Given the description of an element on the screen output the (x, y) to click on. 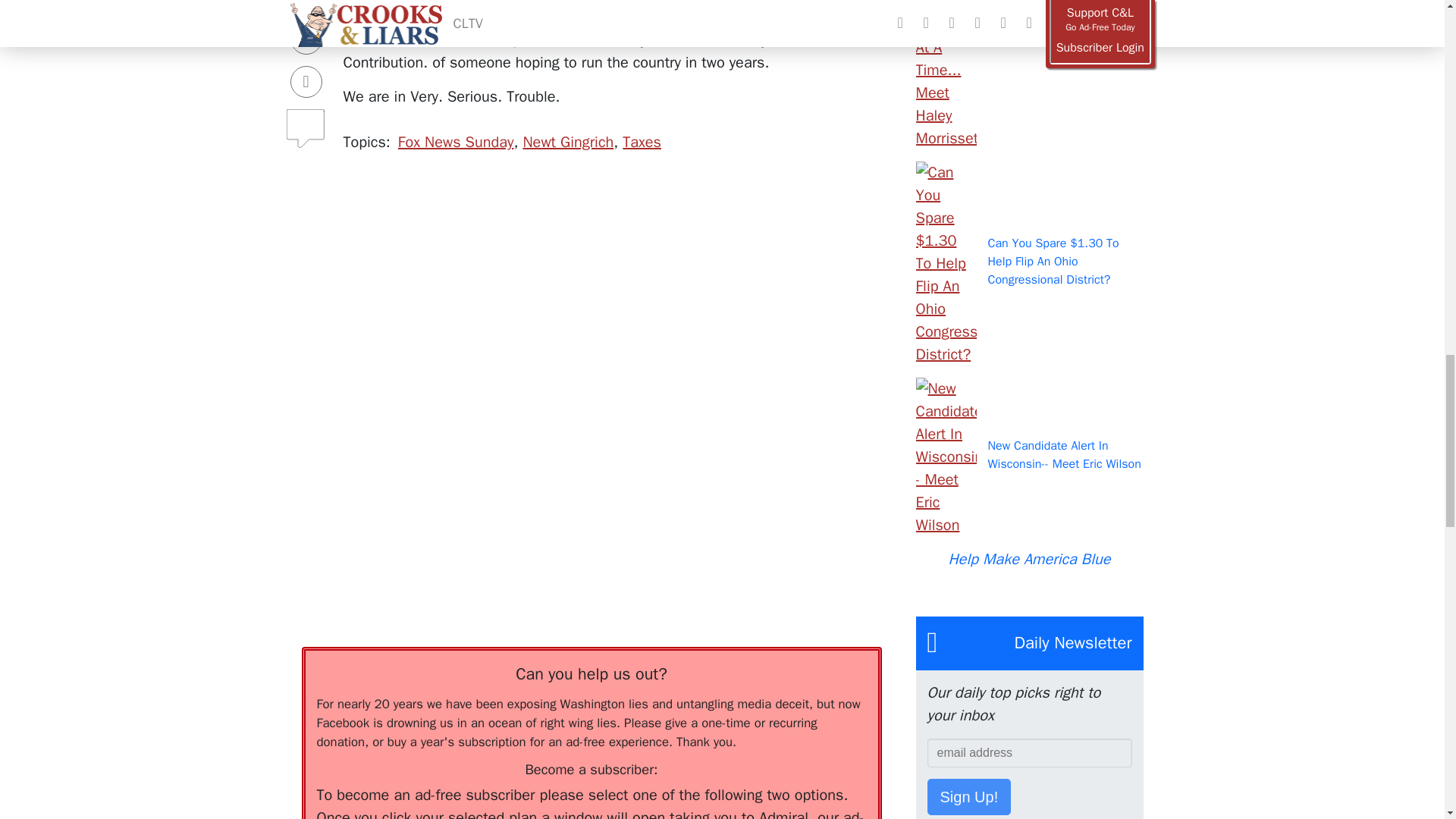
Newt Gingrich (567, 141)
Taxes (642, 141)
Fox News Sunday (455, 141)
